Given the description of an element on the screen output the (x, y) to click on. 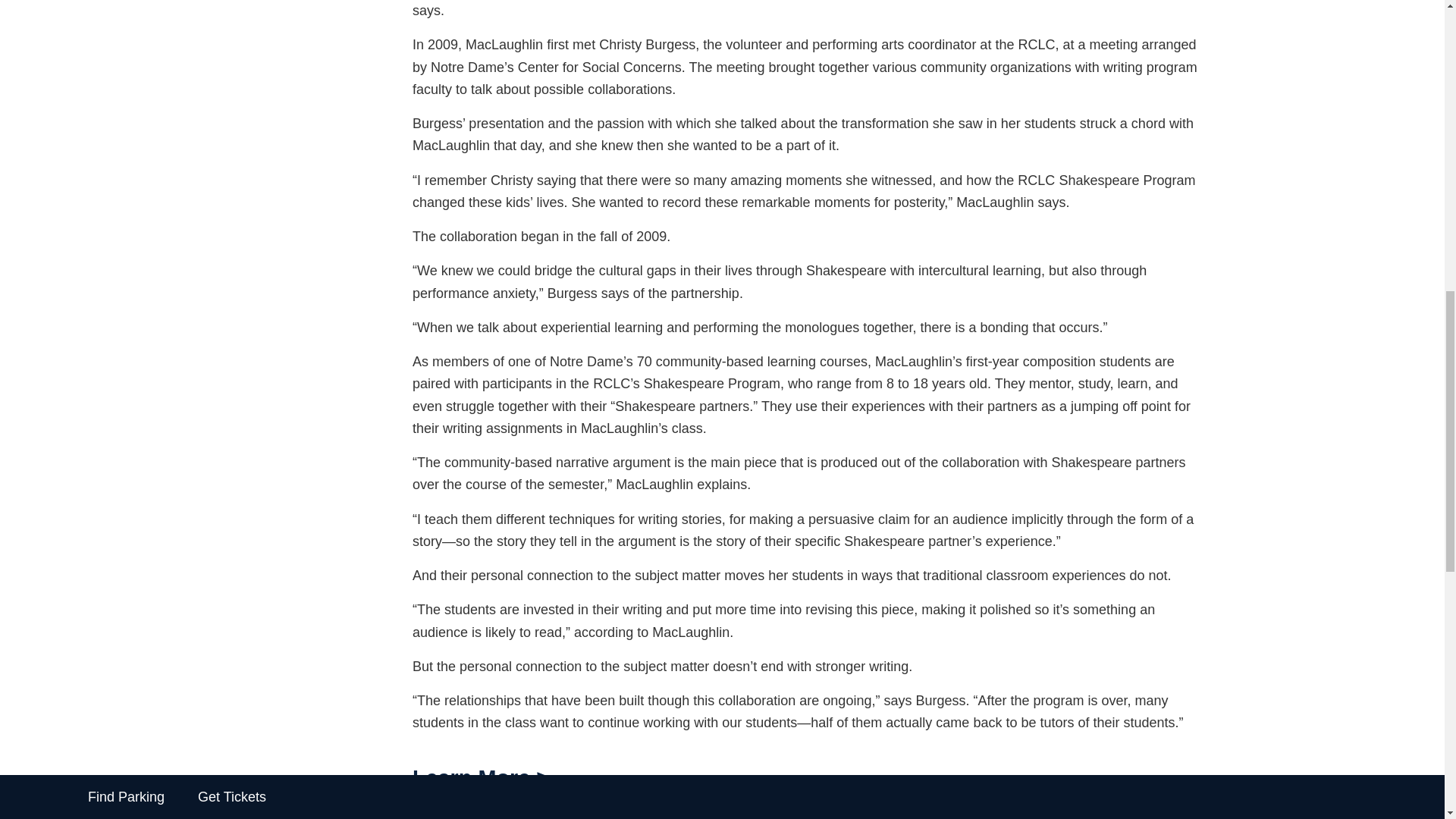
Watch video (473, 813)
